Given the description of an element on the screen output the (x, y) to click on. 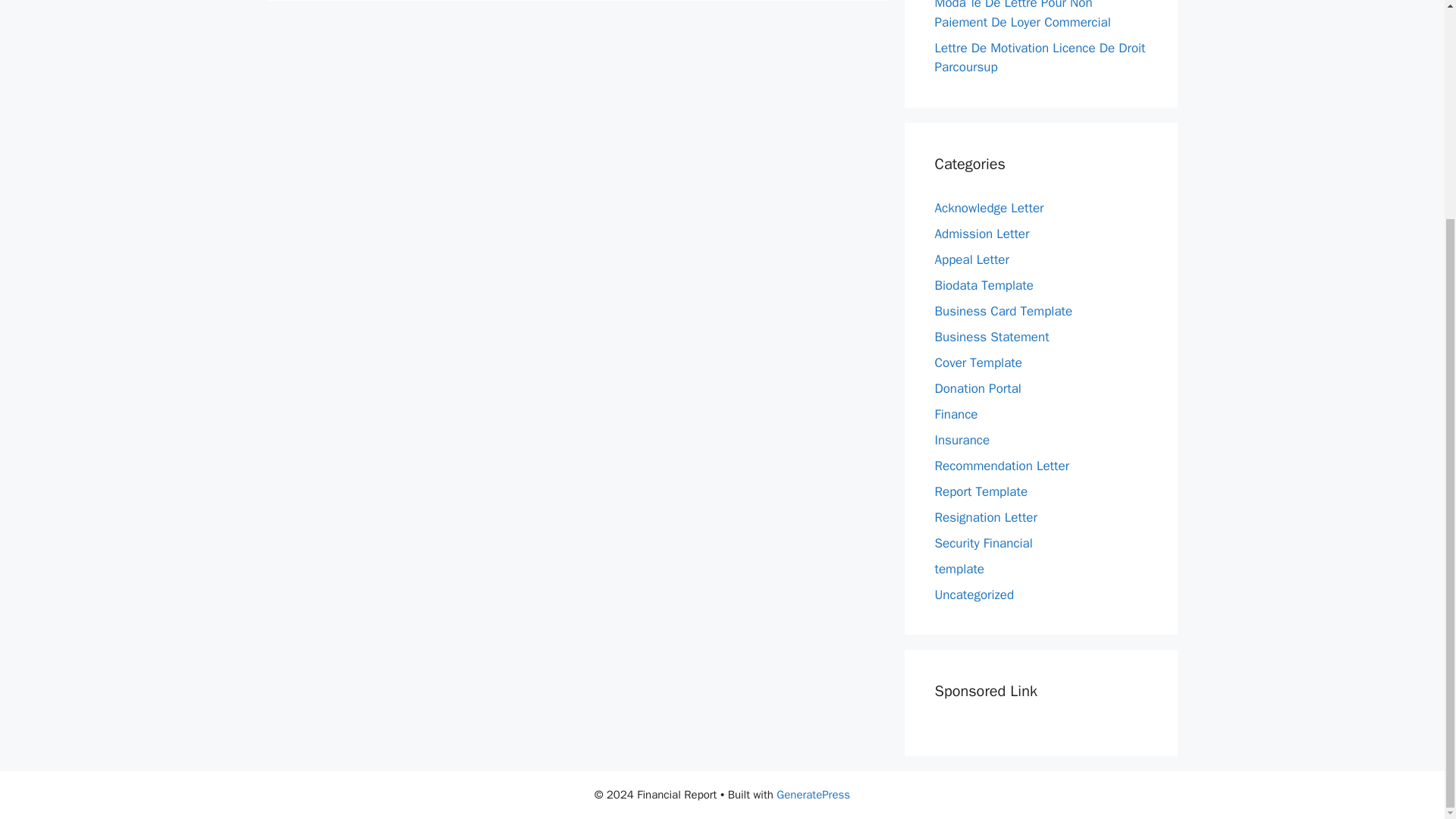
GeneratePress (813, 794)
Admission Letter (981, 233)
Appeal Letter (971, 259)
Donation Portal (977, 388)
Uncategorized (973, 594)
template (959, 569)
Recommendation Letter (1001, 465)
Business Card Template (1002, 311)
Cover Template (978, 362)
Business Statement (991, 336)
Insurance (962, 439)
Acknowledge Letter (988, 207)
Lettre De Motivation Licence De Droit Parcoursup (1039, 57)
Finance (955, 414)
Biodata Template (983, 285)
